Given the description of an element on the screen output the (x, y) to click on. 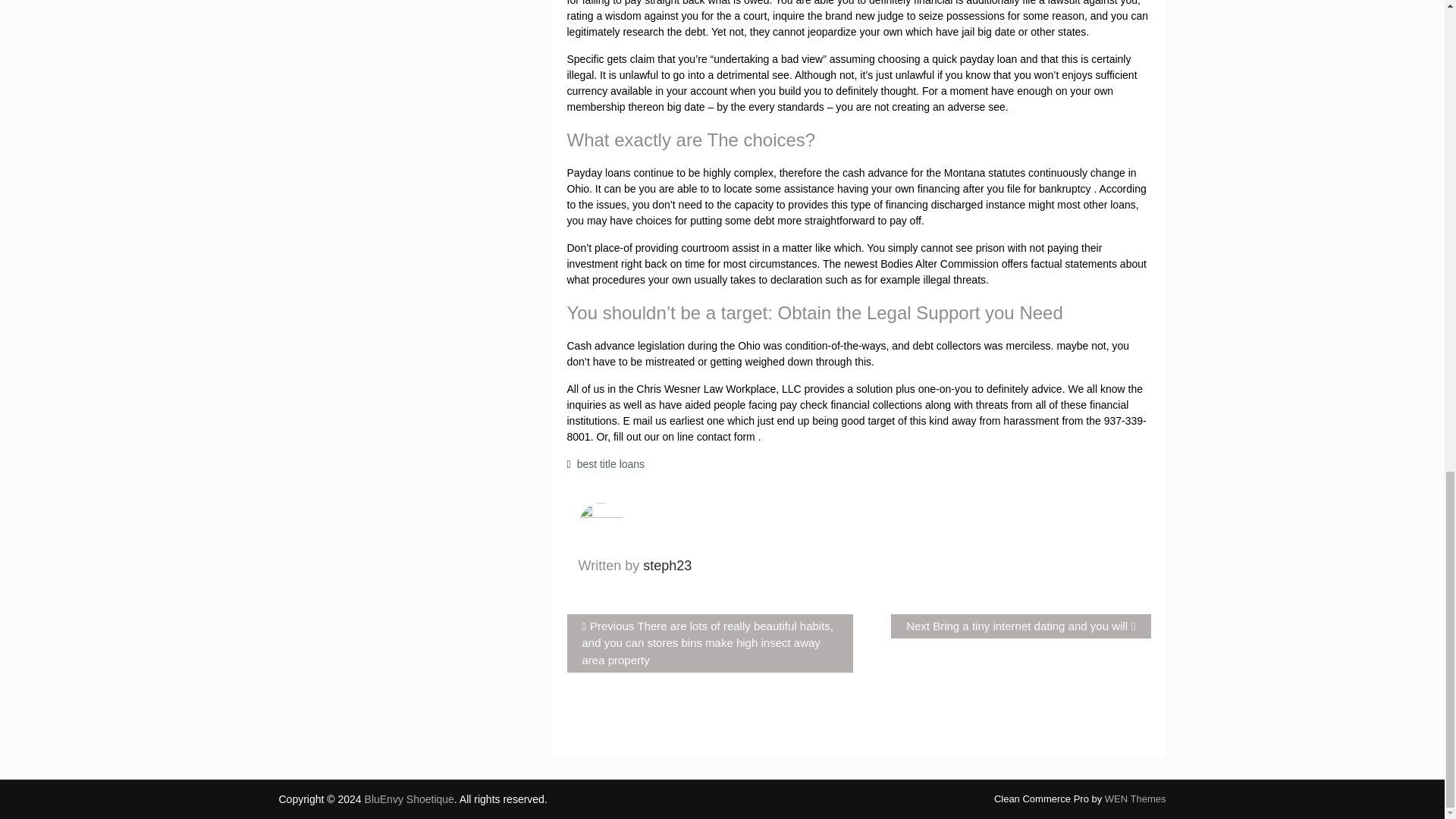
WEN Themes (1020, 626)
steph23 (1135, 798)
Posts by steph23 (667, 565)
BluEnvy Shoetique (667, 565)
best title loans (409, 799)
